Given the description of an element on the screen output the (x, y) to click on. 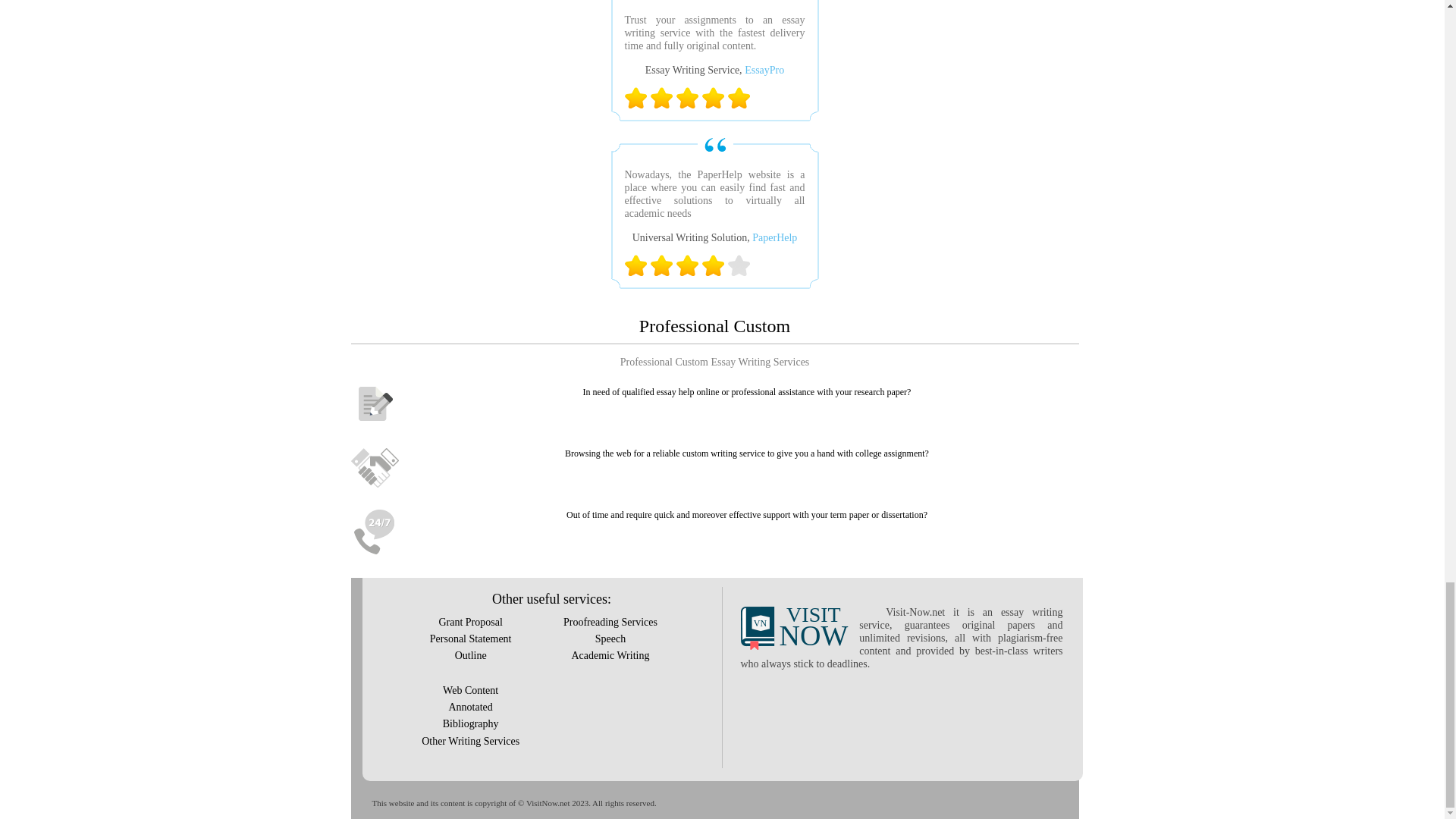
EssayPro (764, 70)
PaperHelp (774, 237)
